Given the description of an element on the screen output the (x, y) to click on. 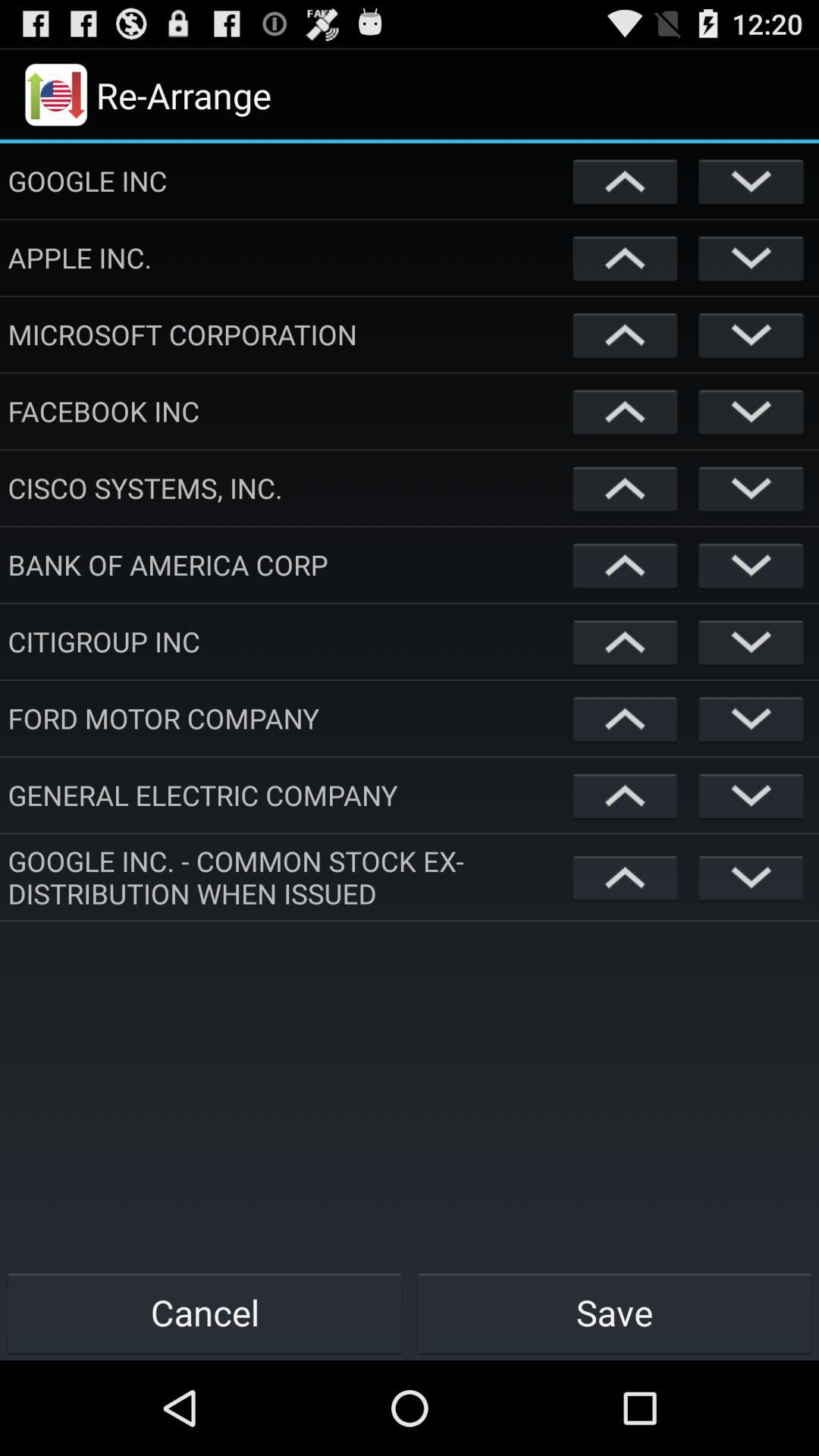
move item up (624, 181)
